Given the description of an element on the screen output the (x, y) to click on. 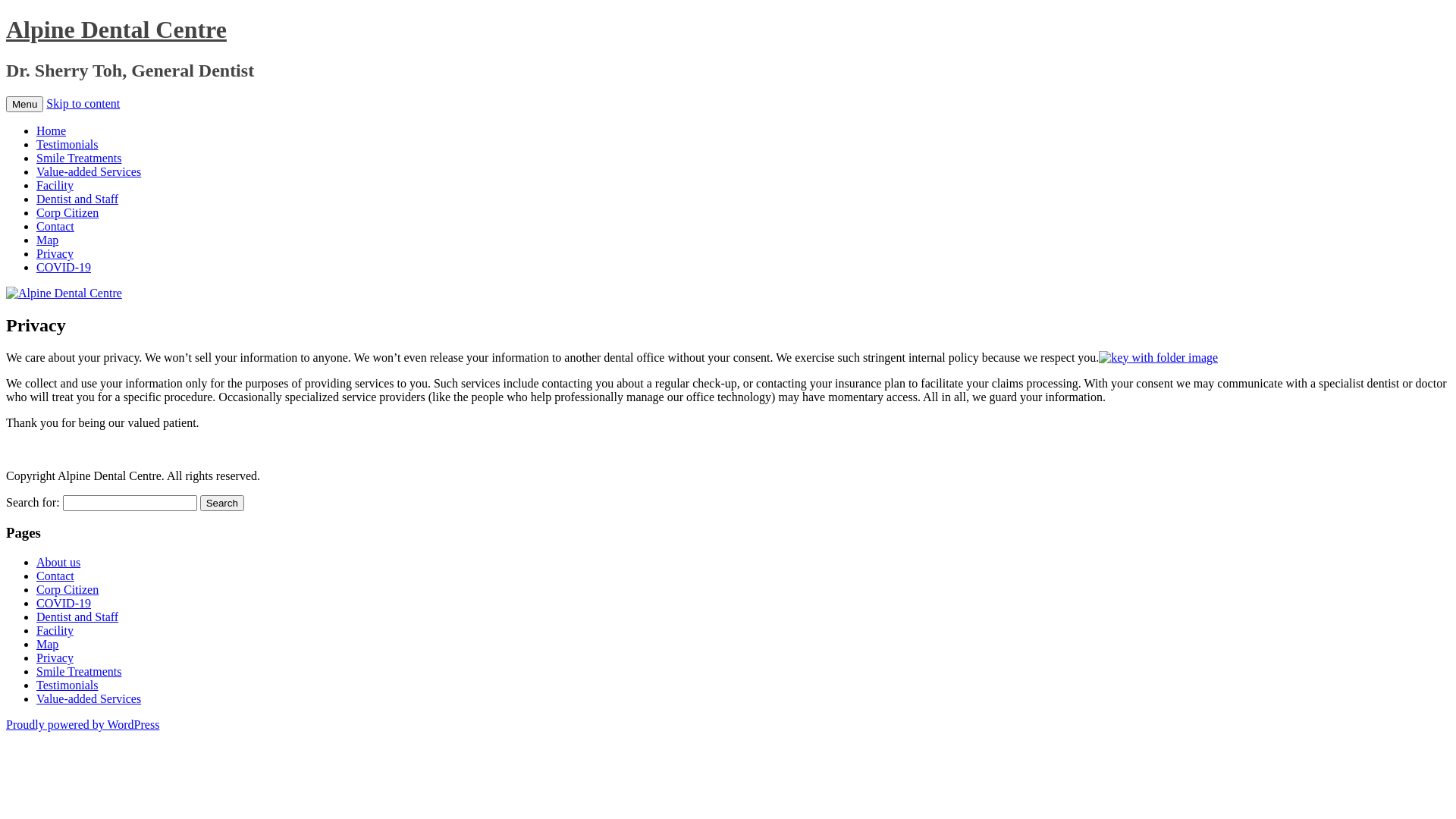
COVID-19 Element type: text (63, 602)
Alpine Dental Centre Element type: text (116, 29)
Testimonials Element type: text (67, 684)
COVID-19 Element type: text (63, 266)
Facility Element type: text (54, 184)
Dentist and Staff Element type: text (77, 198)
Value-added Services Element type: text (88, 171)
Dentist and Staff Element type: text (77, 616)
Facility Element type: text (54, 630)
Contact Element type: text (55, 225)
Map Element type: text (47, 643)
Corp Citizen Element type: text (67, 212)
Smile Treatments Element type: text (78, 671)
Map Element type: text (47, 239)
Skip to content Element type: text (82, 103)
Smile Treatments Element type: text (78, 157)
Search Element type: text (222, 503)
Proudly powered by WordPress Element type: text (82, 724)
About us Element type: text (58, 561)
Privacy Element type: text (54, 657)
Corp Citizen Element type: text (67, 589)
Menu Element type: text (24, 104)
Testimonials Element type: text (67, 144)
Home Element type: text (50, 130)
Privacy Element type: text (54, 253)
Value-added Services Element type: text (88, 698)
Contact Element type: text (55, 575)
